Given the description of an element on the screen output the (x, y) to click on. 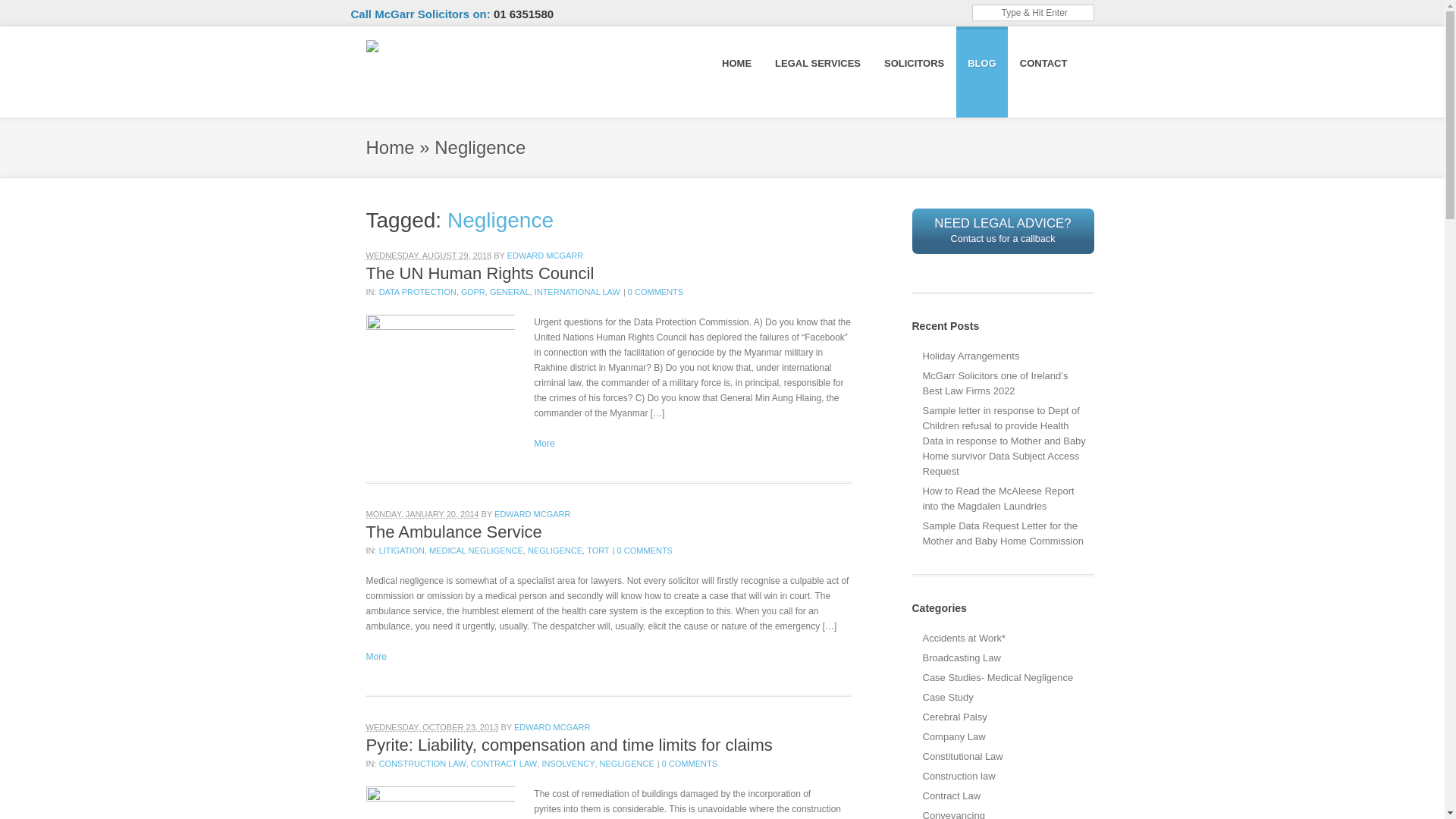
HOME (736, 62)
The UN Human Rights Council (479, 272)
Home (389, 147)
CONSTRUCTION LAW (421, 763)
More (544, 443)
View all articles by Edward McGarr (551, 727)
SOLICITORS (913, 62)
NEGLIGENCE (626, 763)
LEGAL SERVICES (817, 62)
Pyrite: Liability, compensation and time limits for claims (568, 744)
INTERNATIONAL LAW (577, 291)
EDWARD MCGARR (544, 255)
DATA PROTECTION (417, 291)
The Ambulance Service (453, 531)
LITIGATION (401, 550)
